Given the description of an element on the screen output the (x, y) to click on. 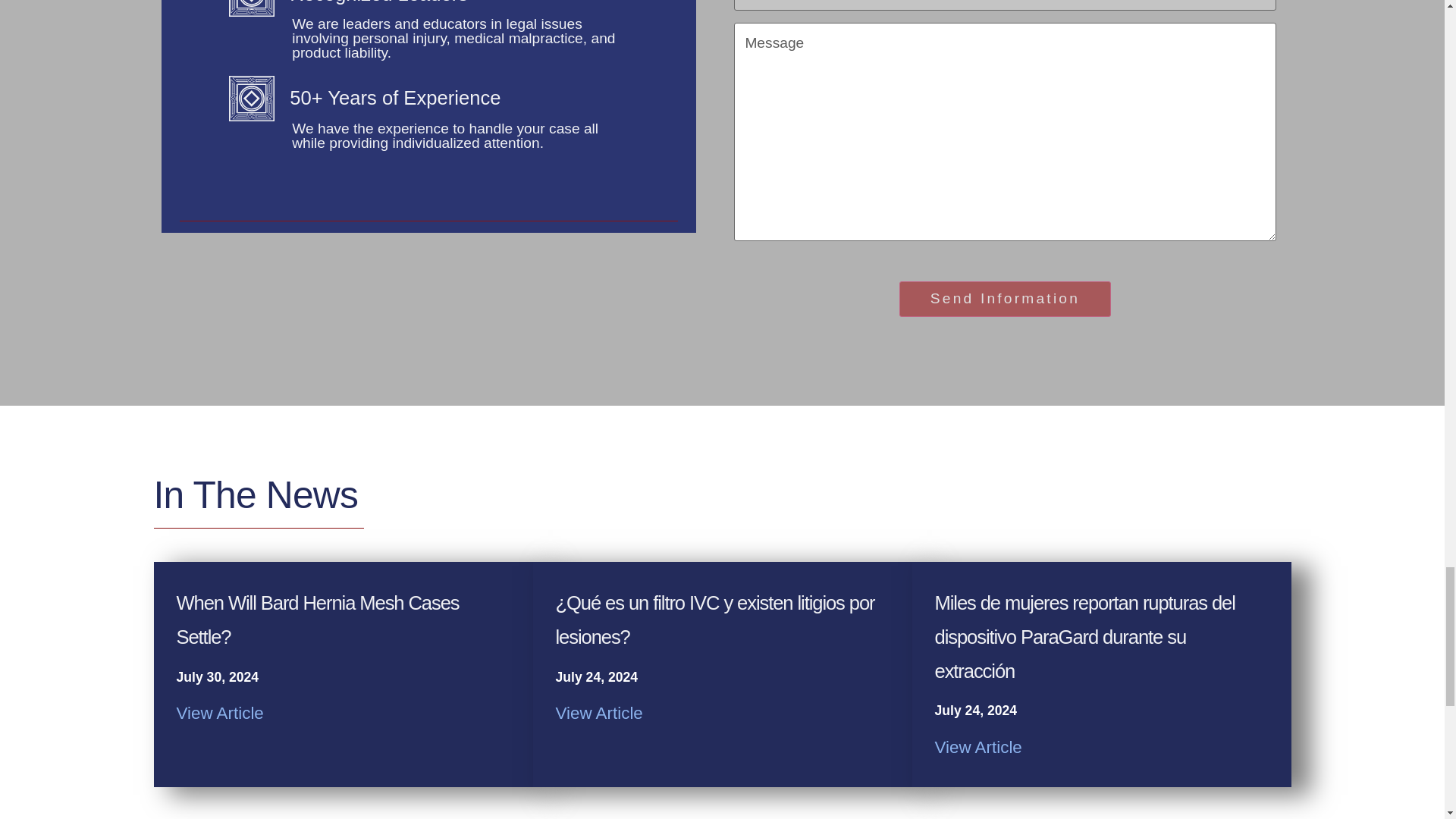
Send Information (1004, 298)
